Given the description of an element on the screen output the (x, y) to click on. 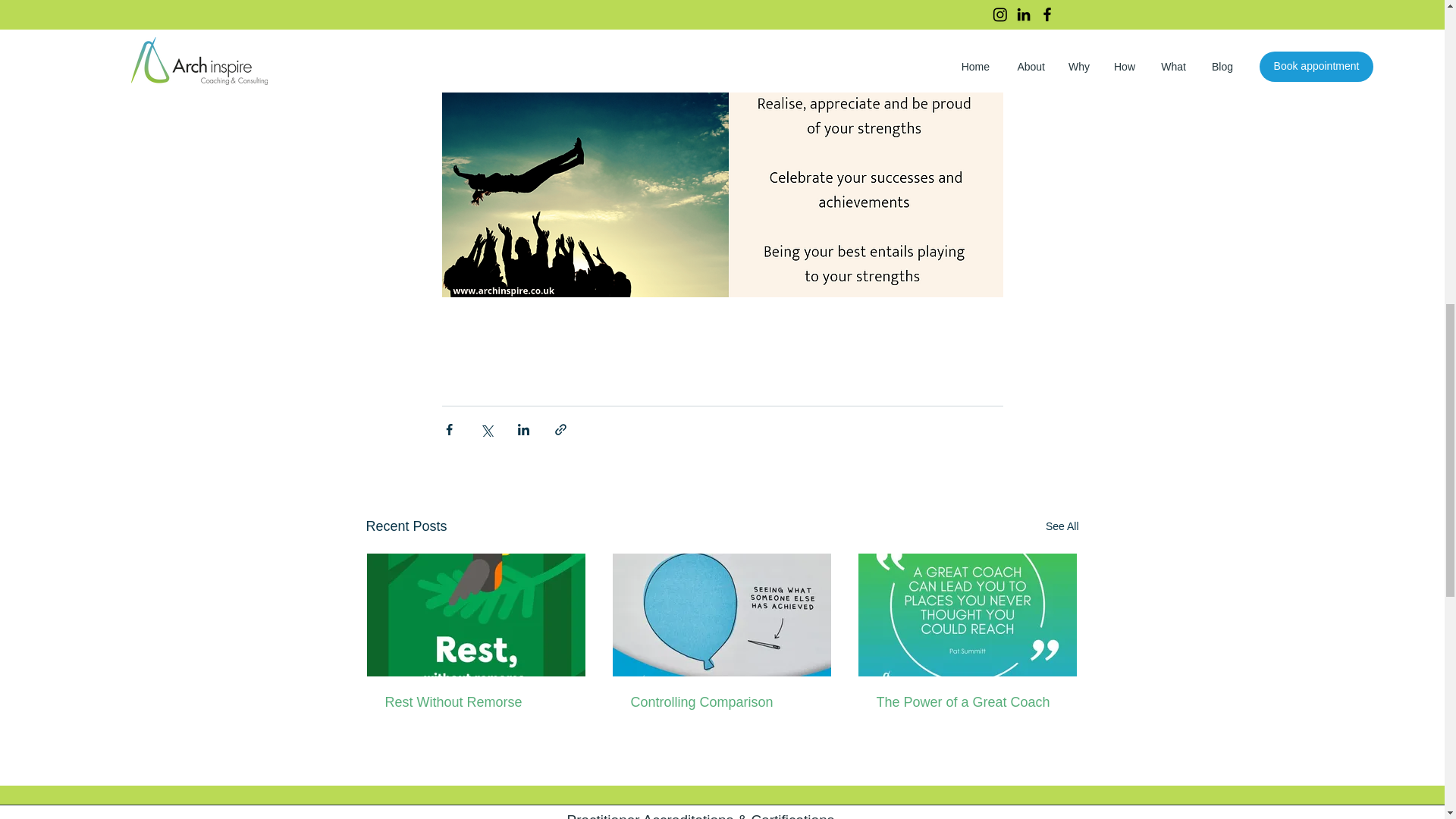
Controlling Comparison (721, 702)
The Power of a Great Coach (967, 702)
See All (1061, 526)
Rest Without Remorse (476, 702)
